Given the description of an element on the screen output the (x, y) to click on. 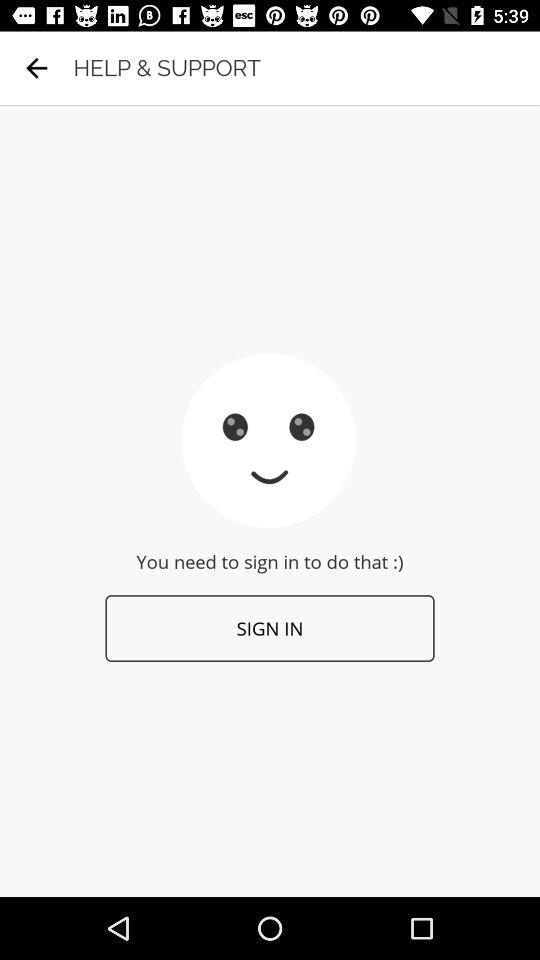
choose icon above the you need to (36, 68)
